Given the description of an element on the screen output the (x, y) to click on. 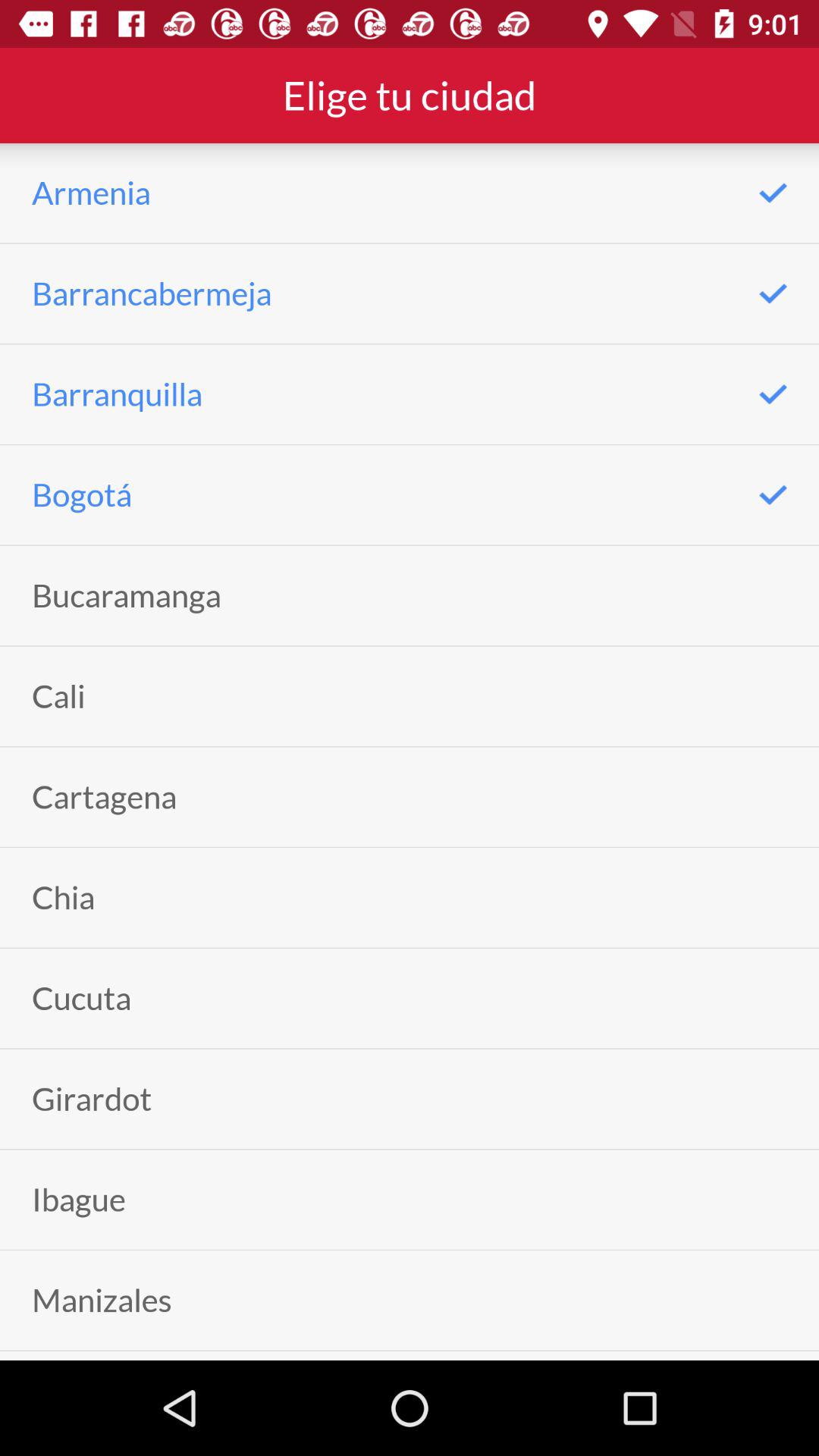
jump to manizales app (101, 1300)
